Given the description of an element on the screen output the (x, y) to click on. 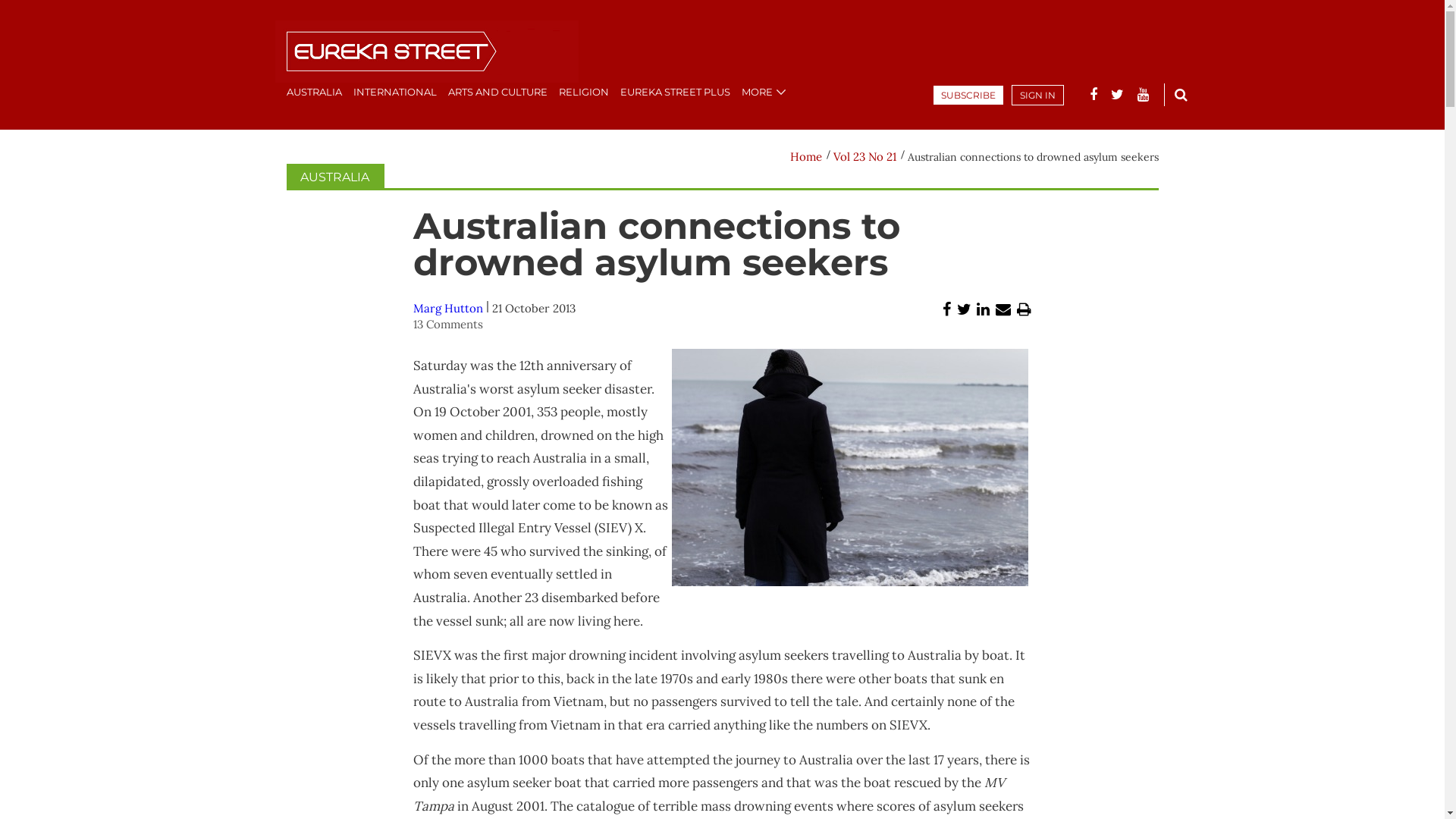
Vol 23 No 21 Element type: text (864, 156)
AUSTRALIA Element type: text (334, 176)
Twitter Element type: hover (1116, 94)
GO Element type: text (1180, 93)
Lonely person on a beach in winter time Element type: hover (849, 467)
Twitter Element type: hover (964, 309)
Email Element type: hover (1002, 309)
Home Element type: text (806, 156)
Eureka Street Element type: hover (425, 52)
RELIGION Element type: text (583, 91)
Facebook Element type: hover (1092, 94)
AUSTRALIA Element type: text (314, 91)
INTERNATIONAL Element type: text (394, 91)
Facebook Element type: hover (946, 309)
Youtube Element type: hover (1142, 94)
SIGN IN Element type: text (1037, 94)
LinkedIn Element type: hover (982, 309)
ARTS AND CULTURE Element type: text (496, 91)
EUREKA STREET PLUS Element type: text (675, 91)
Print Element type: hover (1023, 309)
Marg Hutton Element type: text (448, 308)
SUBSCRIBE Element type: text (968, 94)
MORE Element type: text (756, 91)
